Given the description of an element on the screen output the (x, y) to click on. 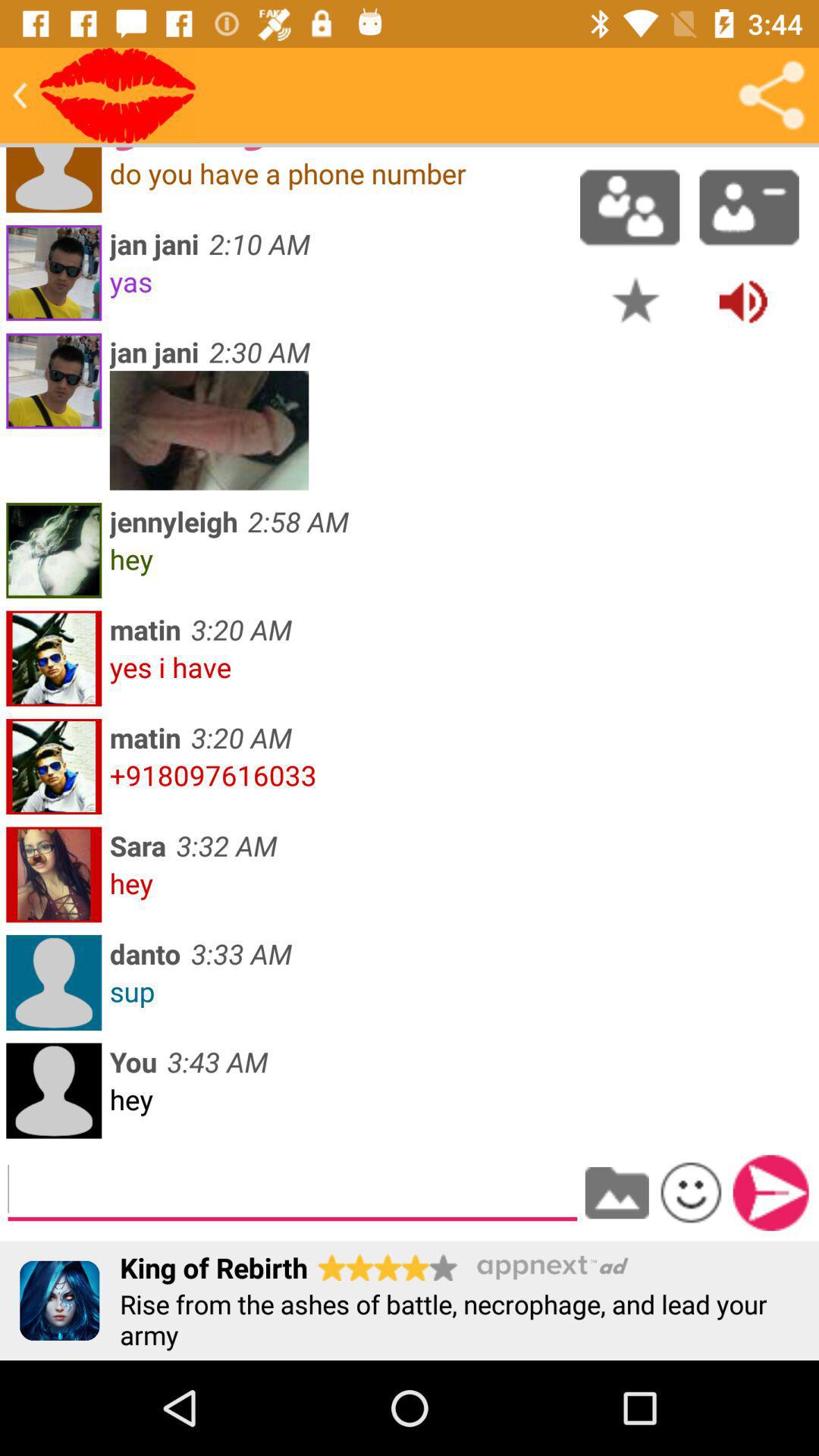
share the conversation (771, 95)
